Given the description of an element on the screen output the (x, y) to click on. 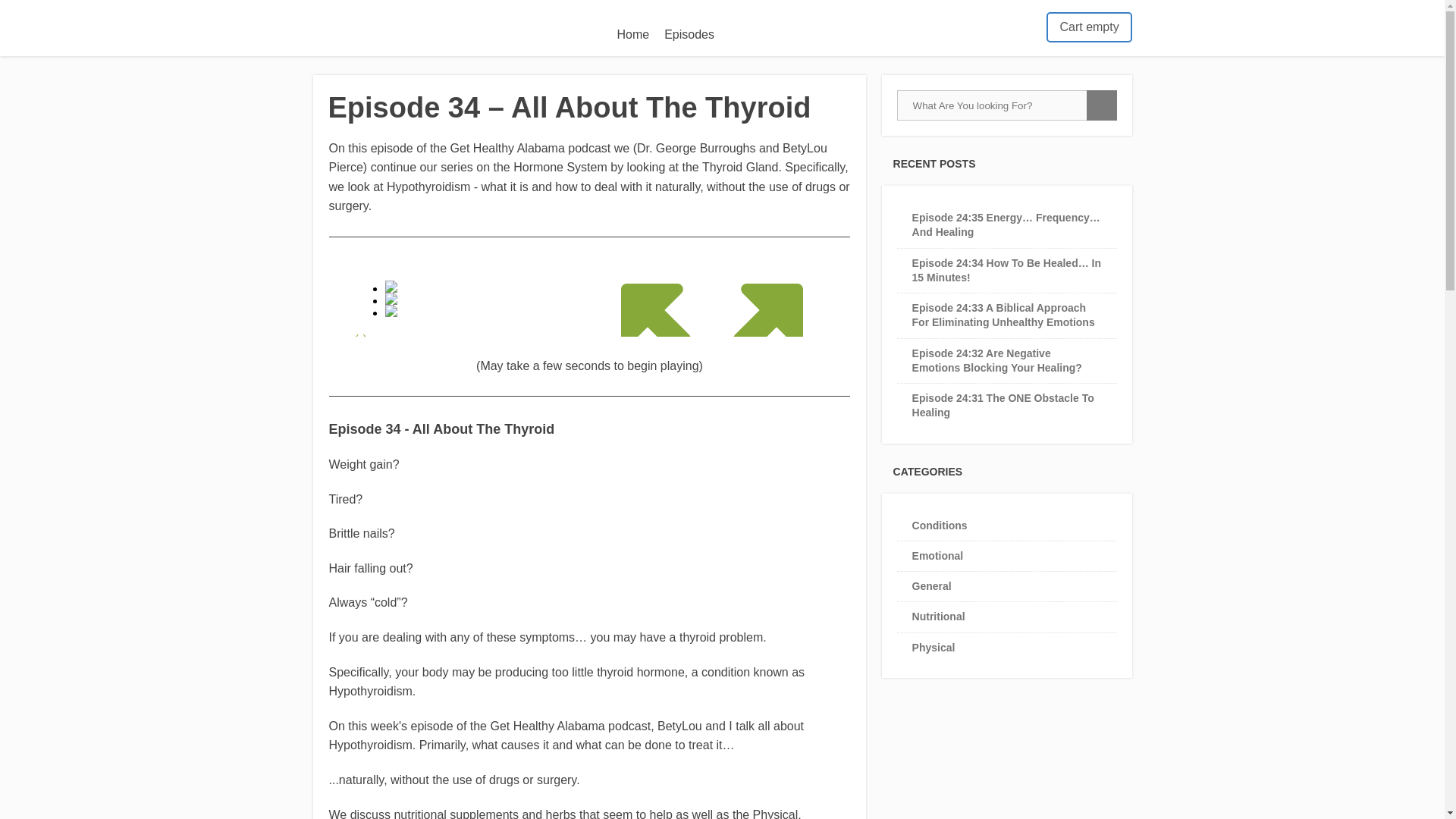
Episode 24:31 The ONE Obstacle To Healing (1003, 405)
Emotional (937, 555)
Episodes (689, 34)
Conditions (940, 524)
Cart empty (1088, 27)
Episode 24:32 Are Negative Emotions Blocking Your Healing? (996, 360)
Physical (933, 647)
Nutritional (938, 616)
Home (632, 34)
